Given the description of an element on the screen output the (x, y) to click on. 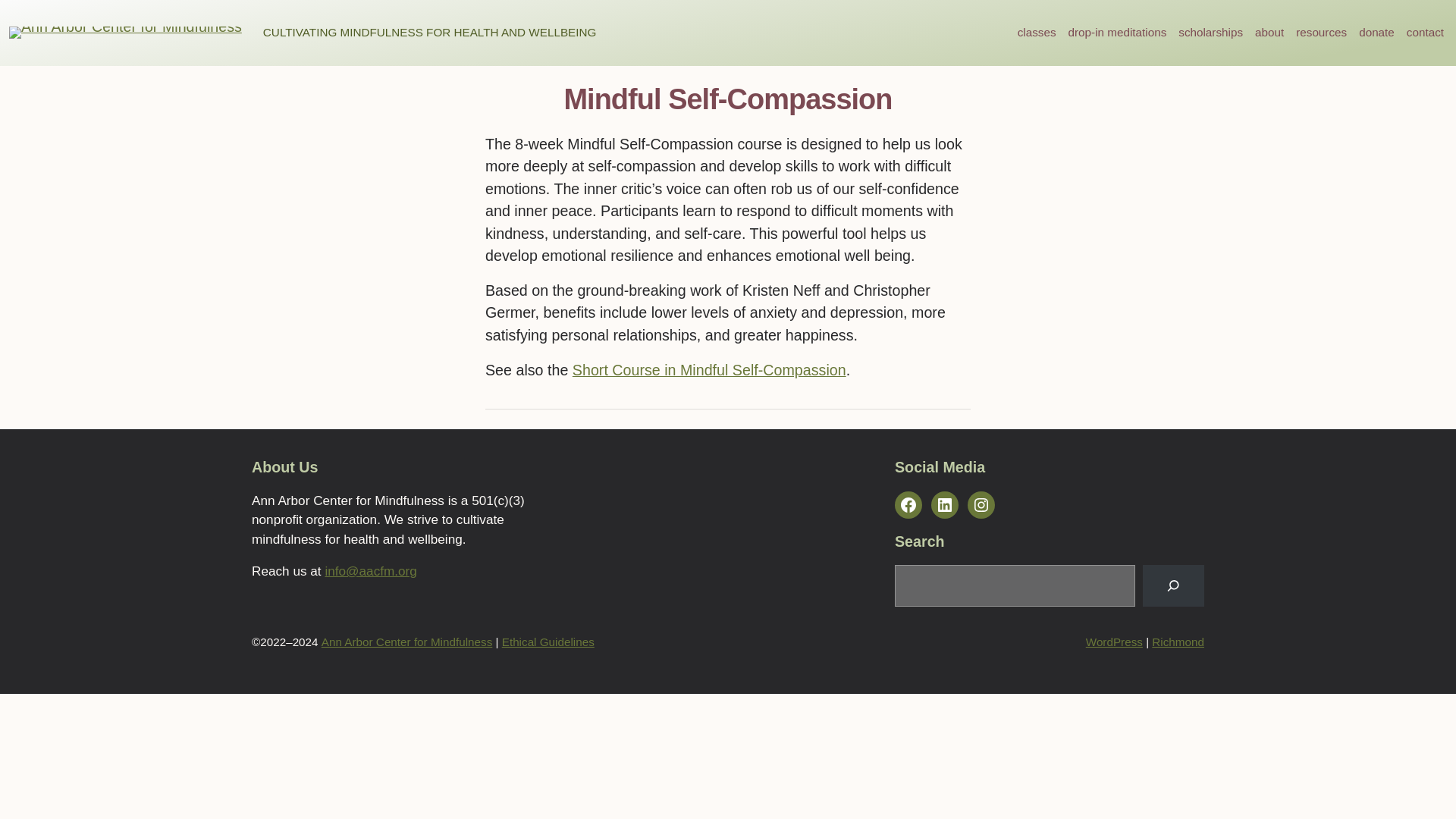
classes (1037, 32)
Facebook (908, 504)
Short Course in Mindful Self-Compassion (708, 369)
about (1269, 32)
drop-in meditations (1117, 32)
scholarships (1210, 32)
LinkedIn (944, 504)
donate (1376, 32)
resources (1320, 32)
Ann Arbor Center for Mindfulness (406, 641)
